Given the description of an element on the screen output the (x, y) to click on. 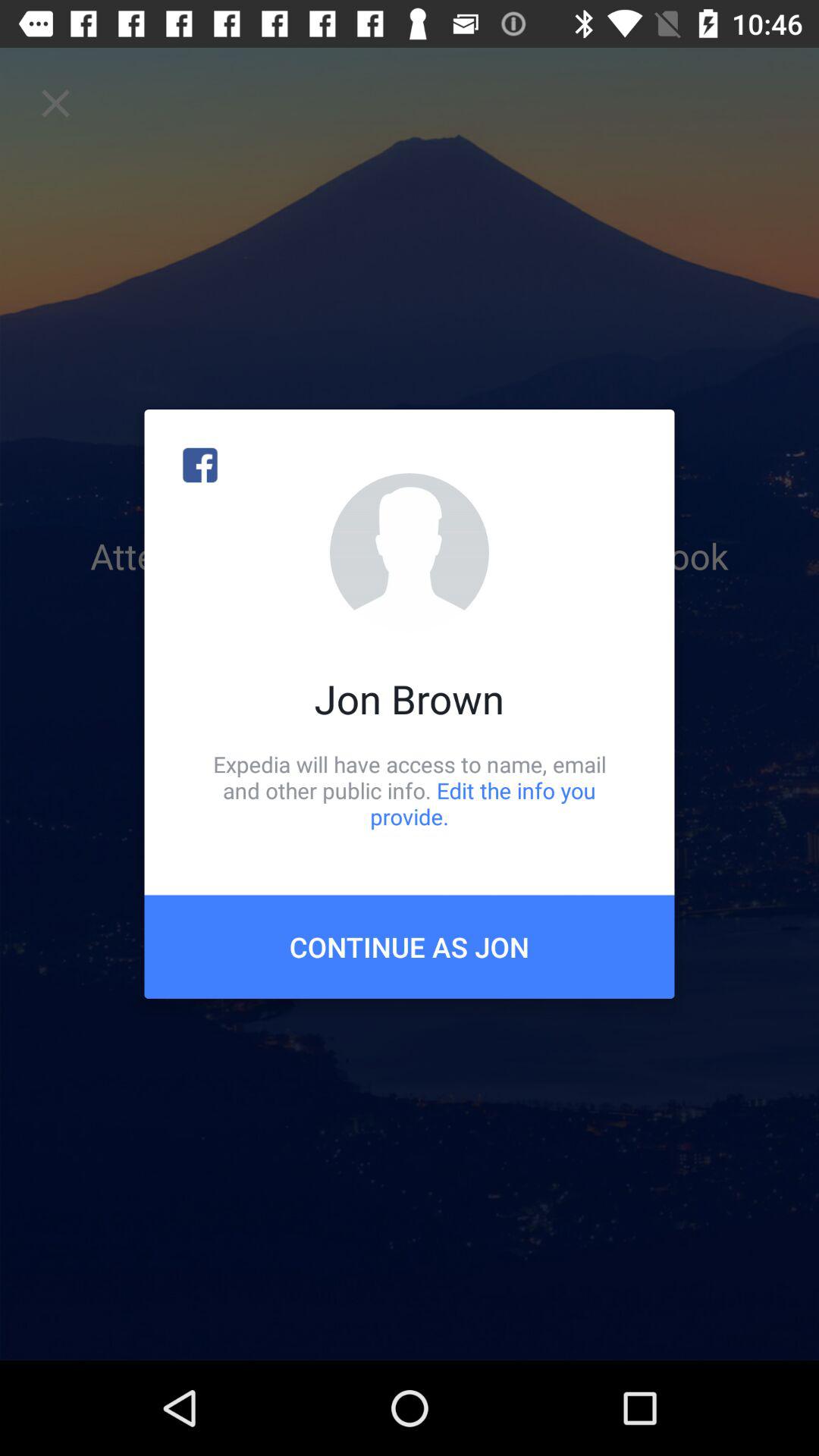
press icon below expedia will have item (409, 946)
